Given the description of an element on the screen output the (x, y) to click on. 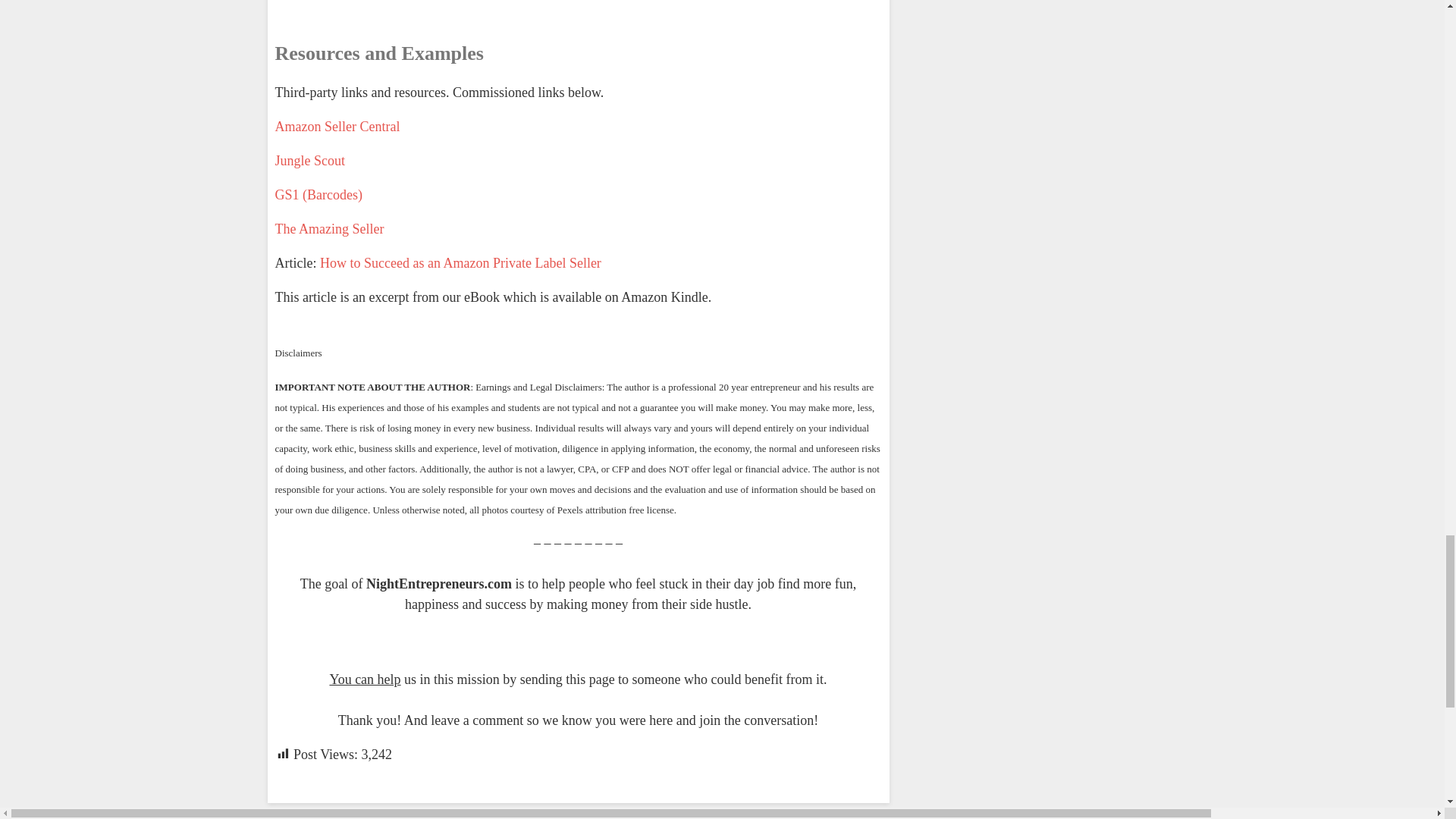
How to Succeed as an Amazon Private Label Seller (460, 263)
The Amazing Seller (329, 228)
Jungle Scout (310, 160)
Amazon Seller Central (336, 126)
